Given the description of an element on the screen output the (x, y) to click on. 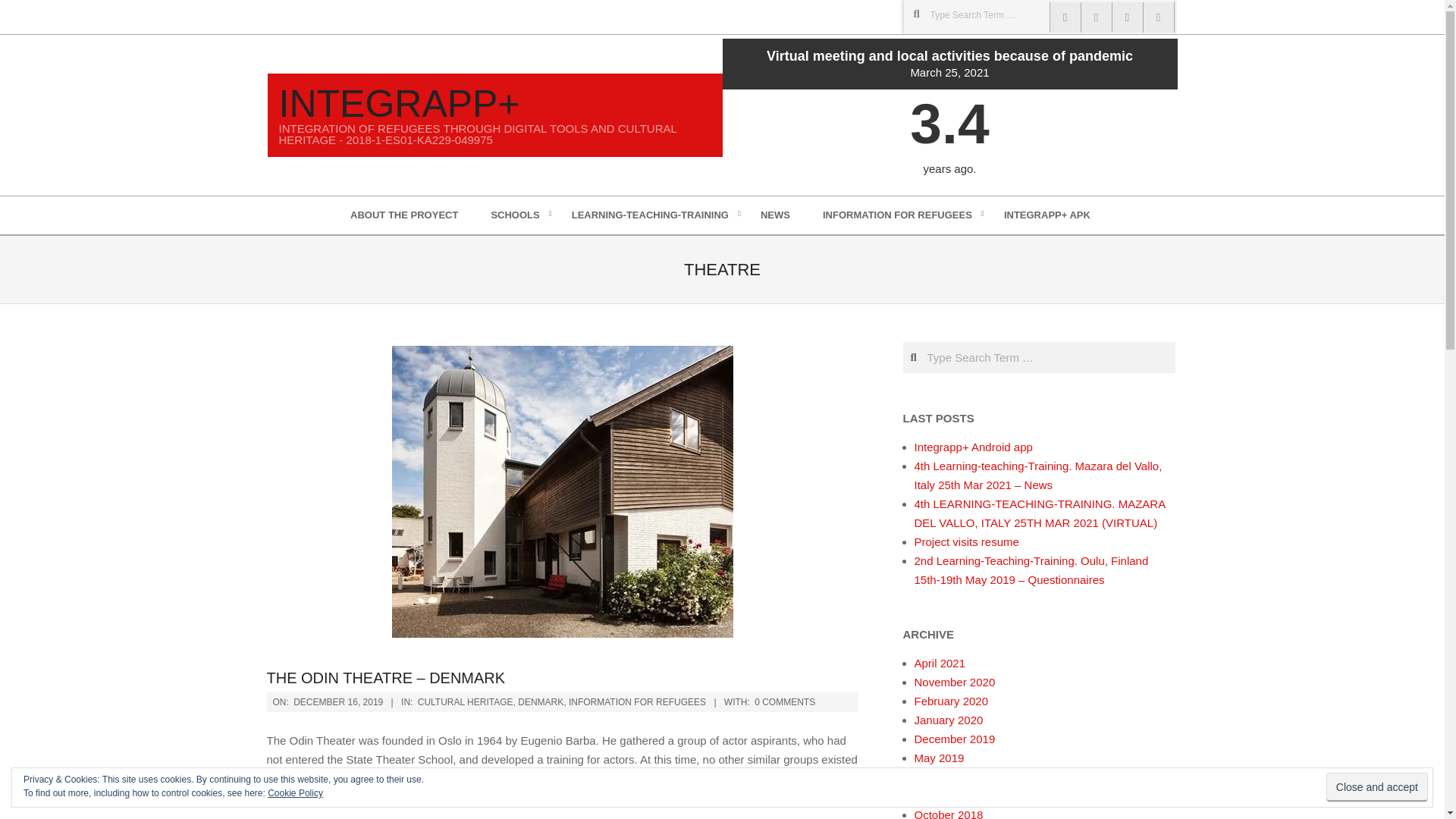
DENMARK (540, 701)
ABOUT THE PROYECT (406, 215)
SCHOOLS (516, 215)
Monday, December 16, 2019, 1:58 pm (338, 701)
NEWS (776, 215)
CULTURAL HERITAGE (465, 701)
INFORMATION FOR REFUGEES (637, 701)
INFORMATION FOR REFUGEES (899, 215)
Close and accept (1377, 787)
0 COMMENTS (784, 701)
